Given the description of an element on the screen output the (x, y) to click on. 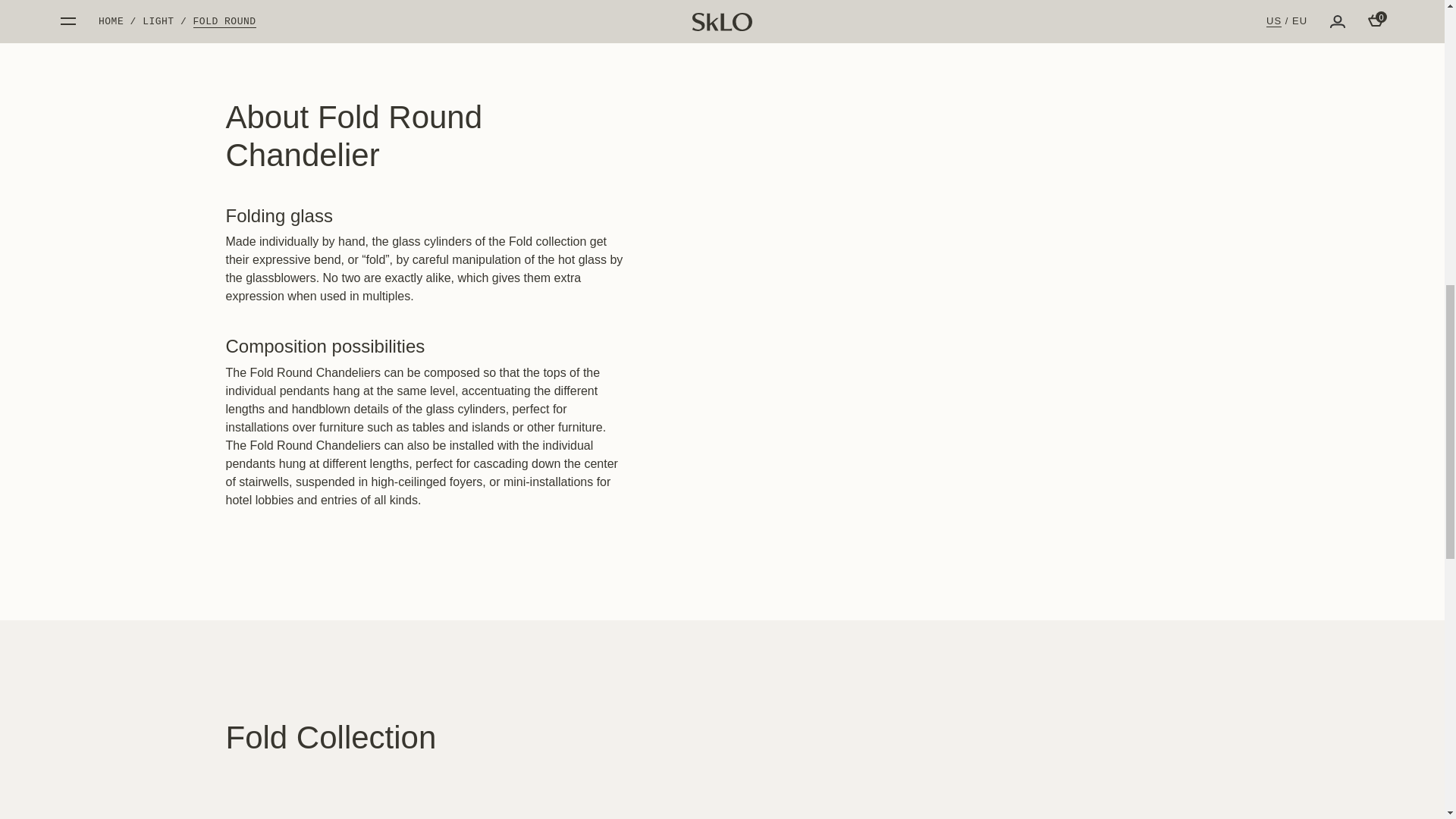
SPEC SHEET FOLD ROUND 36 (1073, 175)
CARE INSTRUCTIONS (1073, 200)
SPEC SHEET FOLD ROUND 24 (1073, 149)
SPEC SHEET FOLD ROUND 12 (1073, 123)
